Given the description of an element on the screen output the (x, y) to click on. 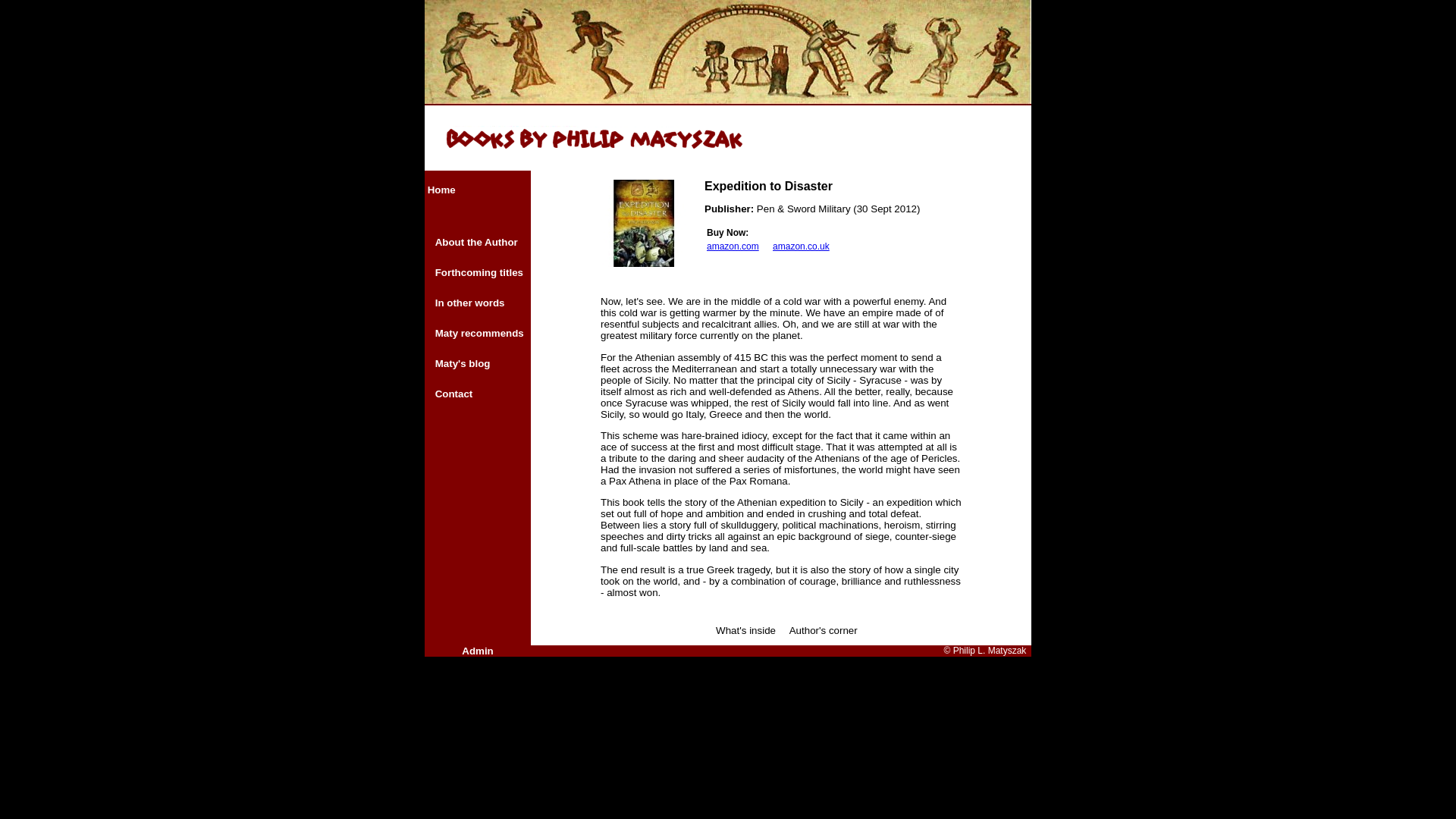
In other words (470, 302)
Home (441, 189)
Maty's blog (462, 363)
amazon.co.uk (801, 245)
About the Author (476, 242)
amazon.com (732, 245)
Forthcoming titles (478, 272)
Contact (454, 393)
Maty recommends (479, 333)
Author's corner (823, 630)
What's inside (746, 630)
